Given the description of an element on the screen output the (x, y) to click on. 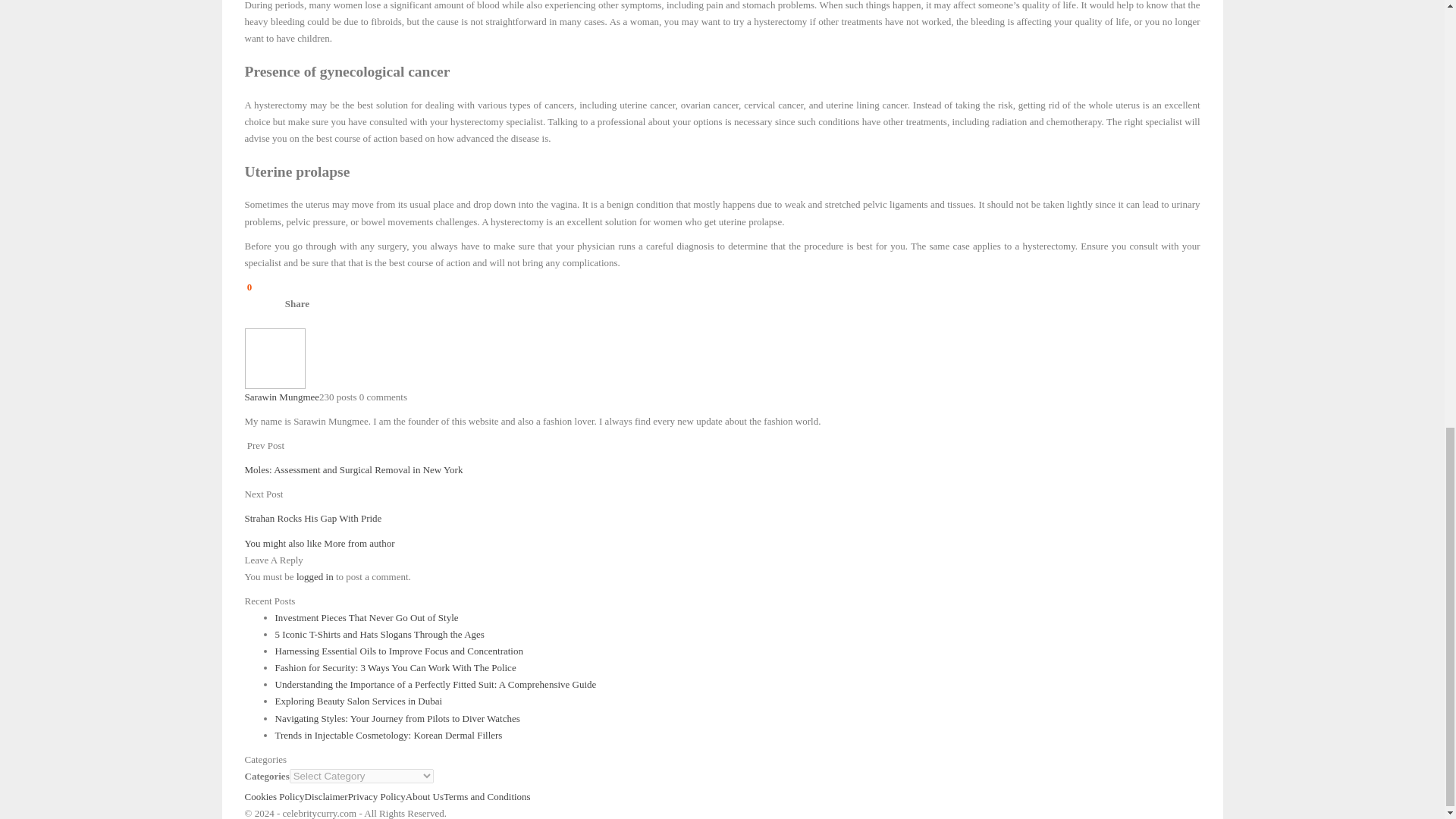
Strahan Rocks His Gap With Pride (312, 518)
Moles: Assessment and Surgical Removal in New York (353, 469)
Browse Author Articles (274, 357)
More from author (358, 542)
Sarawin Mungmee (281, 396)
You might also like (283, 542)
